Given the description of an element on the screen output the (x, y) to click on. 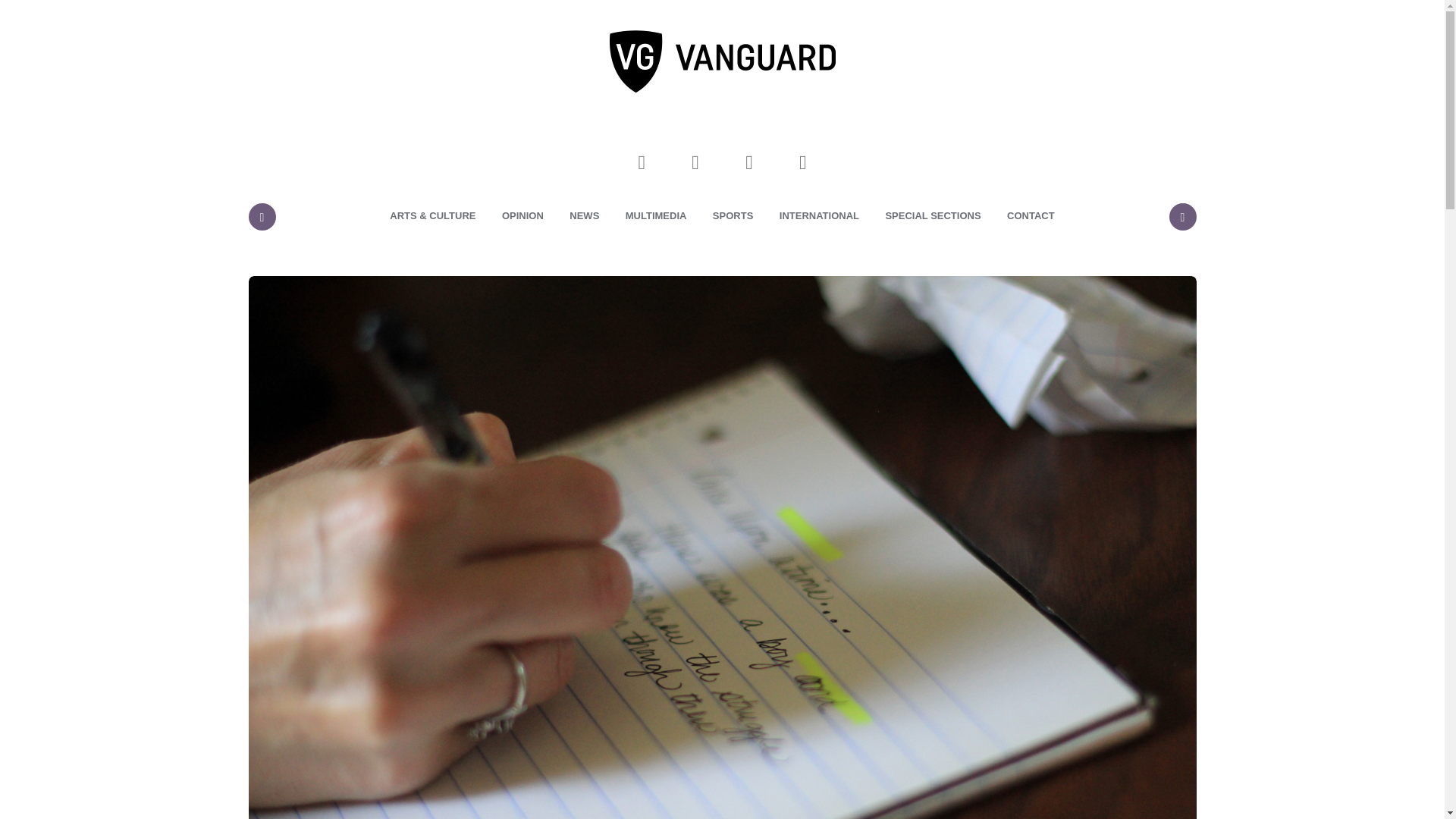
CONTACT (1030, 215)
INTERNATIONAL (819, 215)
OPINION (522, 215)
SPORTS (732, 215)
MULTIMEDIA (656, 215)
NEWS (583, 215)
SPECIAL SECTIONS (932, 215)
